Given the description of an element on the screen output the (x, y) to click on. 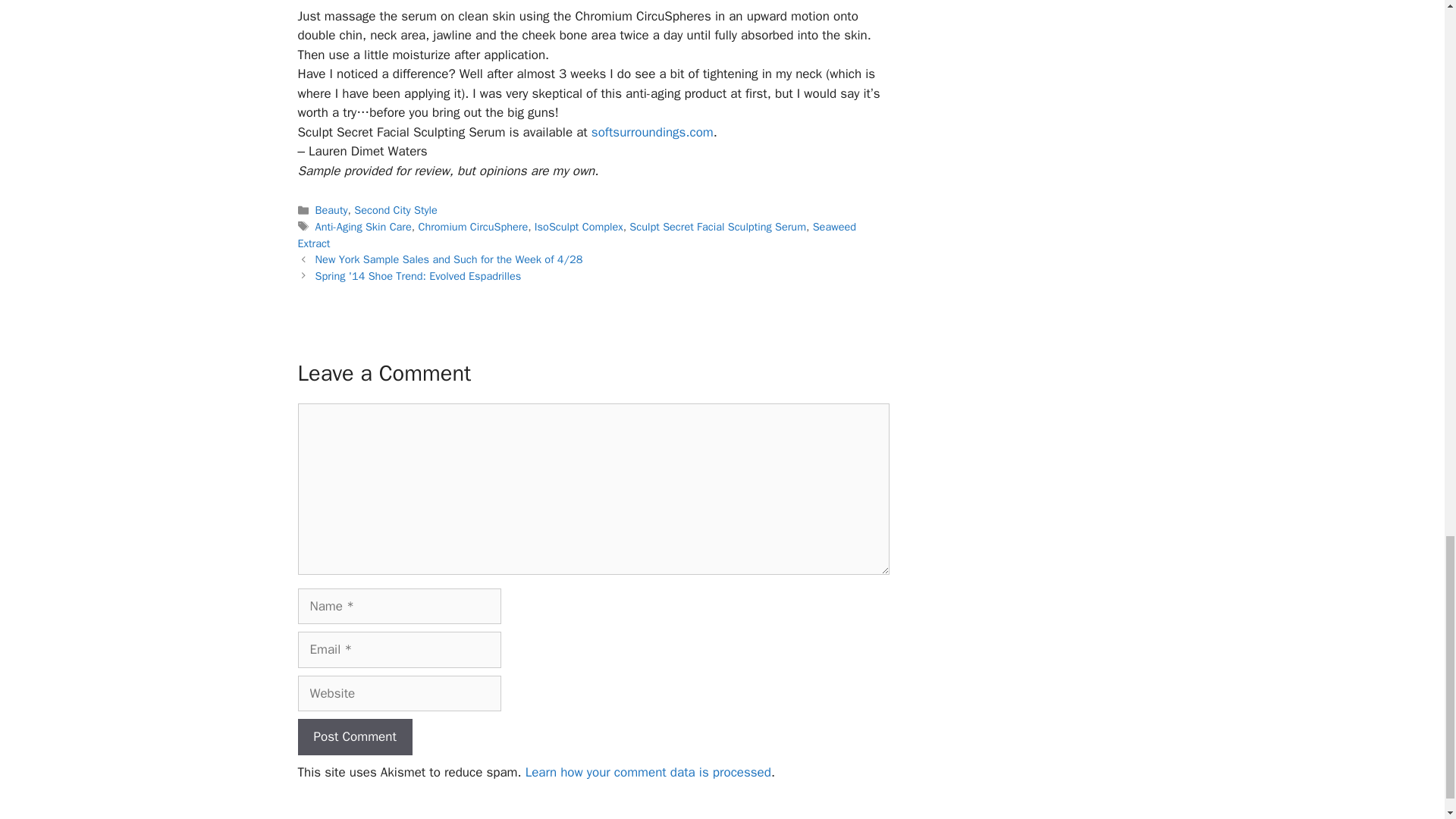
Chromium CircuSphere (472, 226)
Beauty (331, 210)
Second City Style (395, 210)
Sculpt Secret Facial Sculpting Serum (717, 226)
Seaweed Extract (576, 235)
Post Comment (354, 737)
IsoSculpt Complex (578, 226)
softsurroundings.com (652, 132)
Spring '14 Shoe Trend: Evolved Espadrilles (418, 275)
Anti-Aging Skin Care (363, 226)
